Given the description of an element on the screen output the (x, y) to click on. 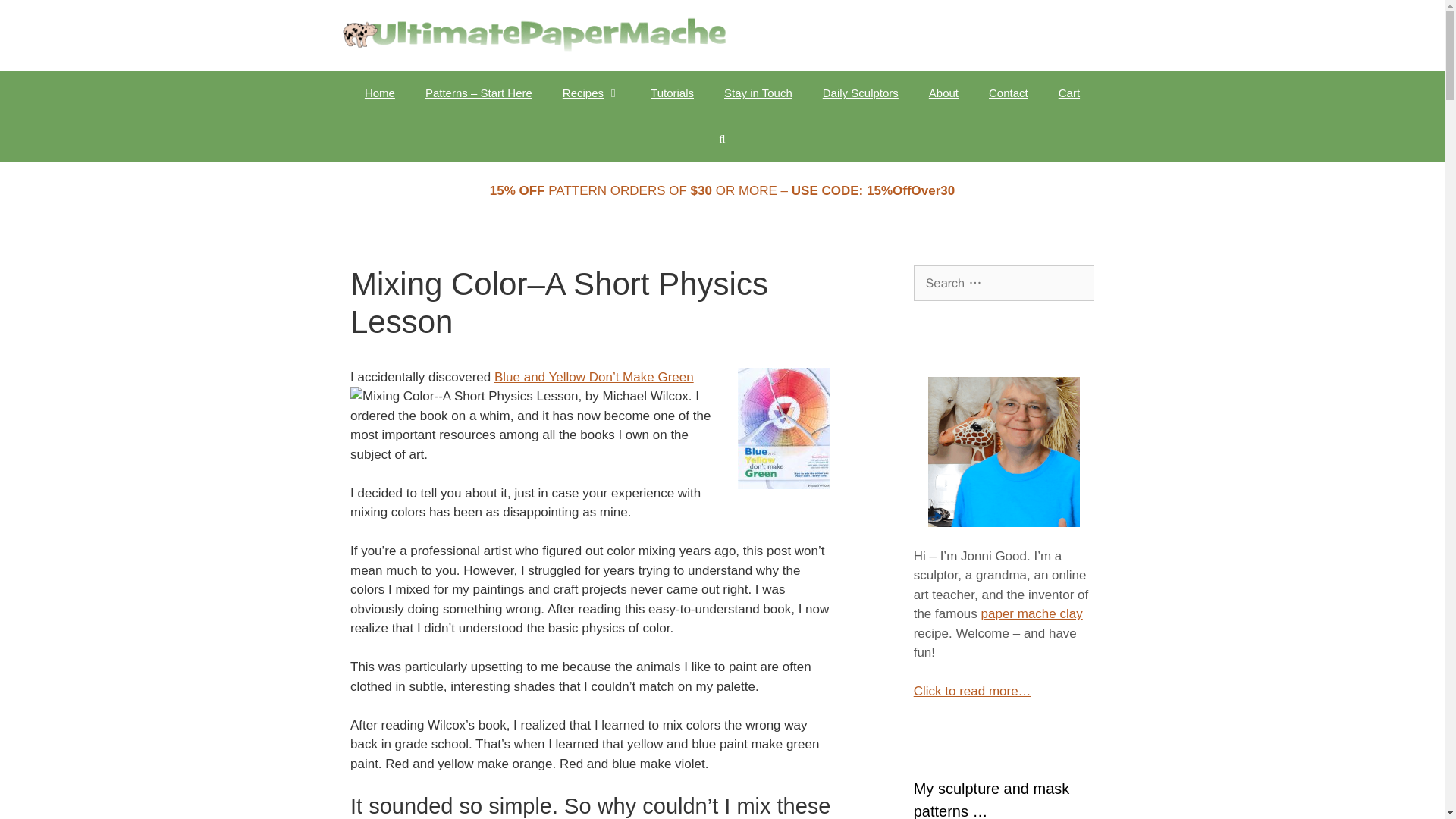
Daily Sculptors (861, 93)
About the Artist (944, 93)
Recipes (590, 93)
Stay in Touch (758, 93)
Home (379, 93)
Cart (1068, 93)
Search for: (1004, 283)
Mixing Color--A Short Physics Lesson 2 (464, 396)
Tutorials (671, 93)
Contact (1008, 93)
About (944, 93)
